Given the description of an element on the screen output the (x, y) to click on. 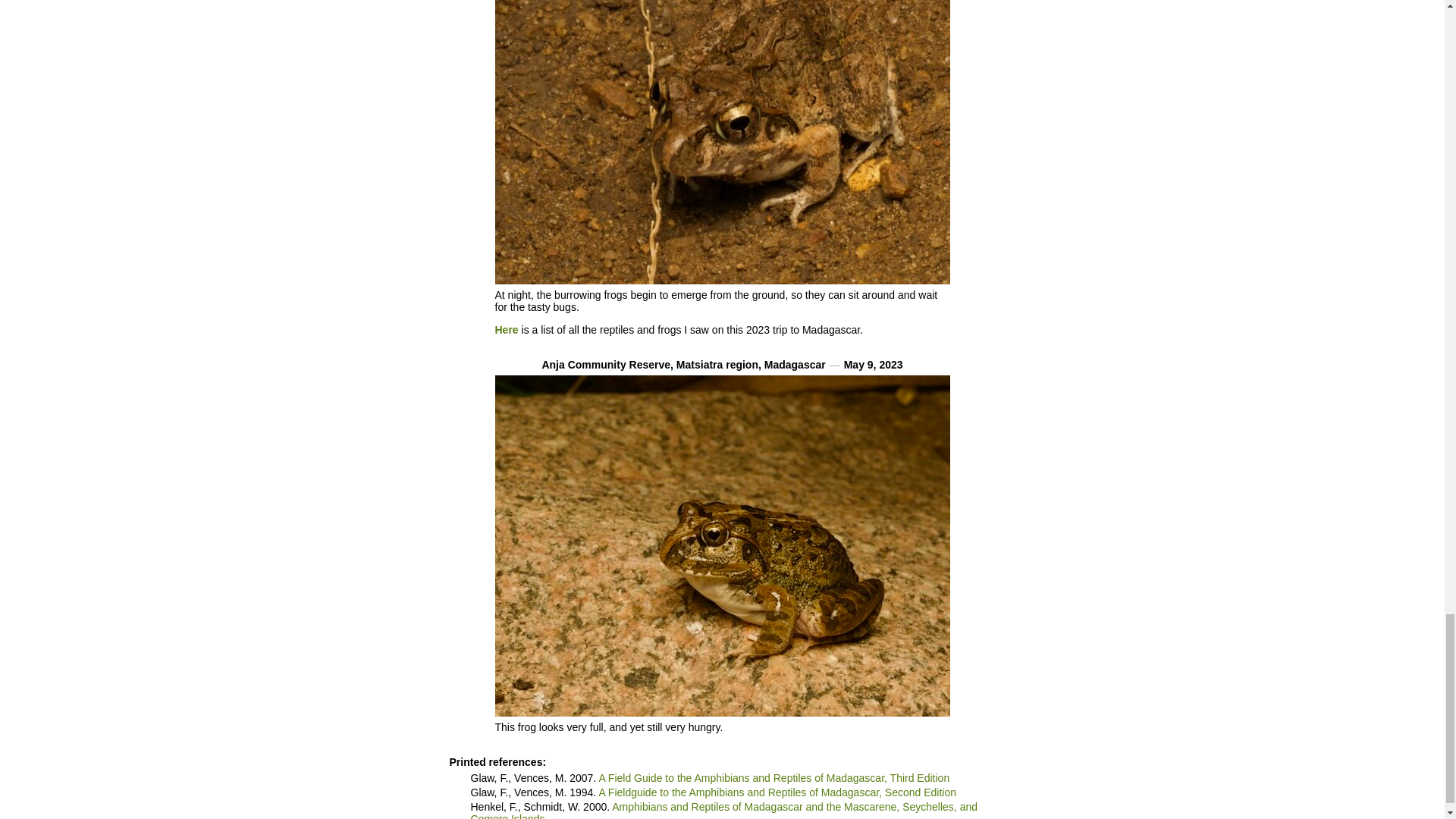
Here (506, 329)
